Given the description of an element on the screen output the (x, y) to click on. 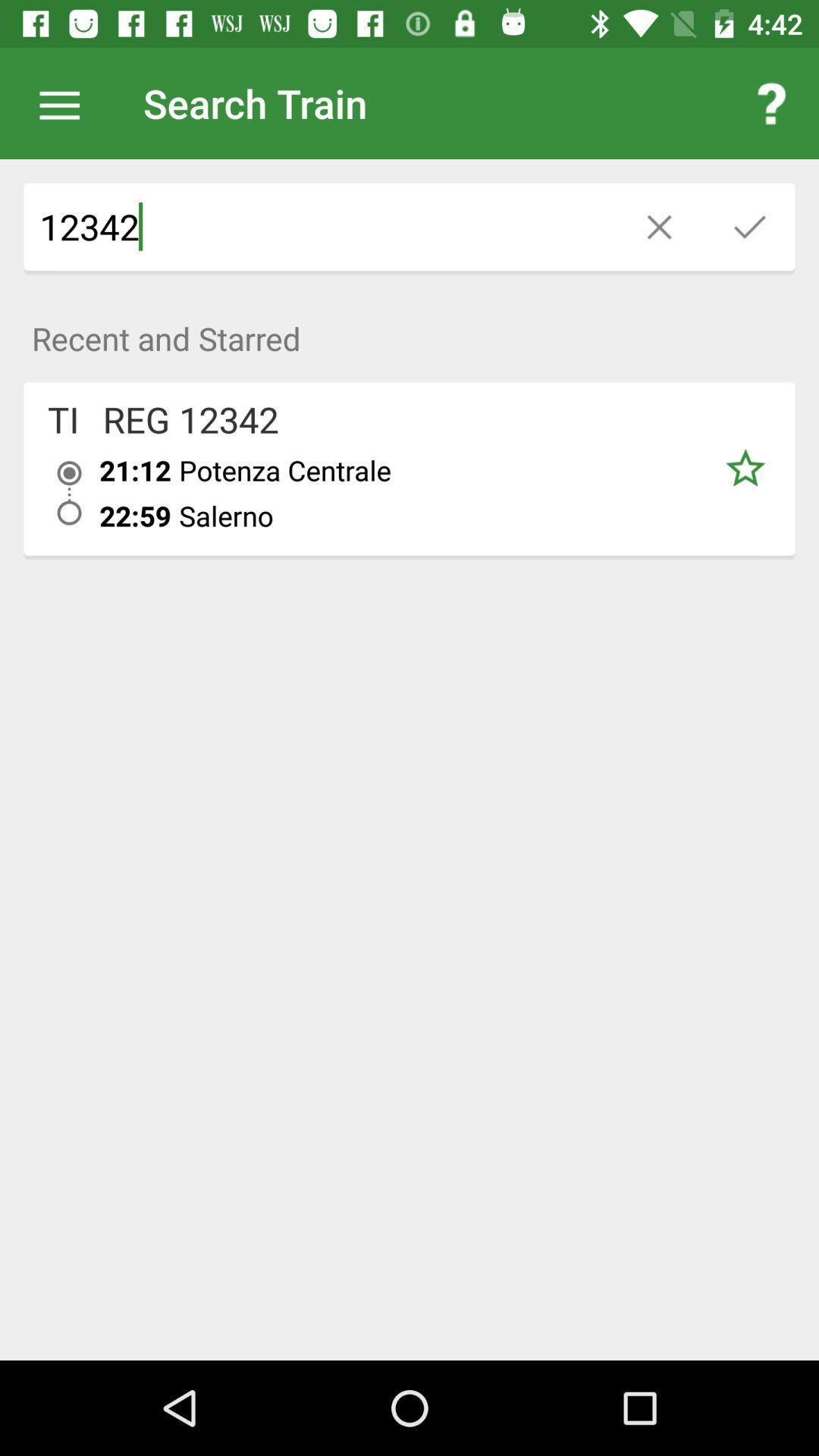
open item to the left of the 21:12 item (63, 419)
